Given the description of an element on the screen output the (x, y) to click on. 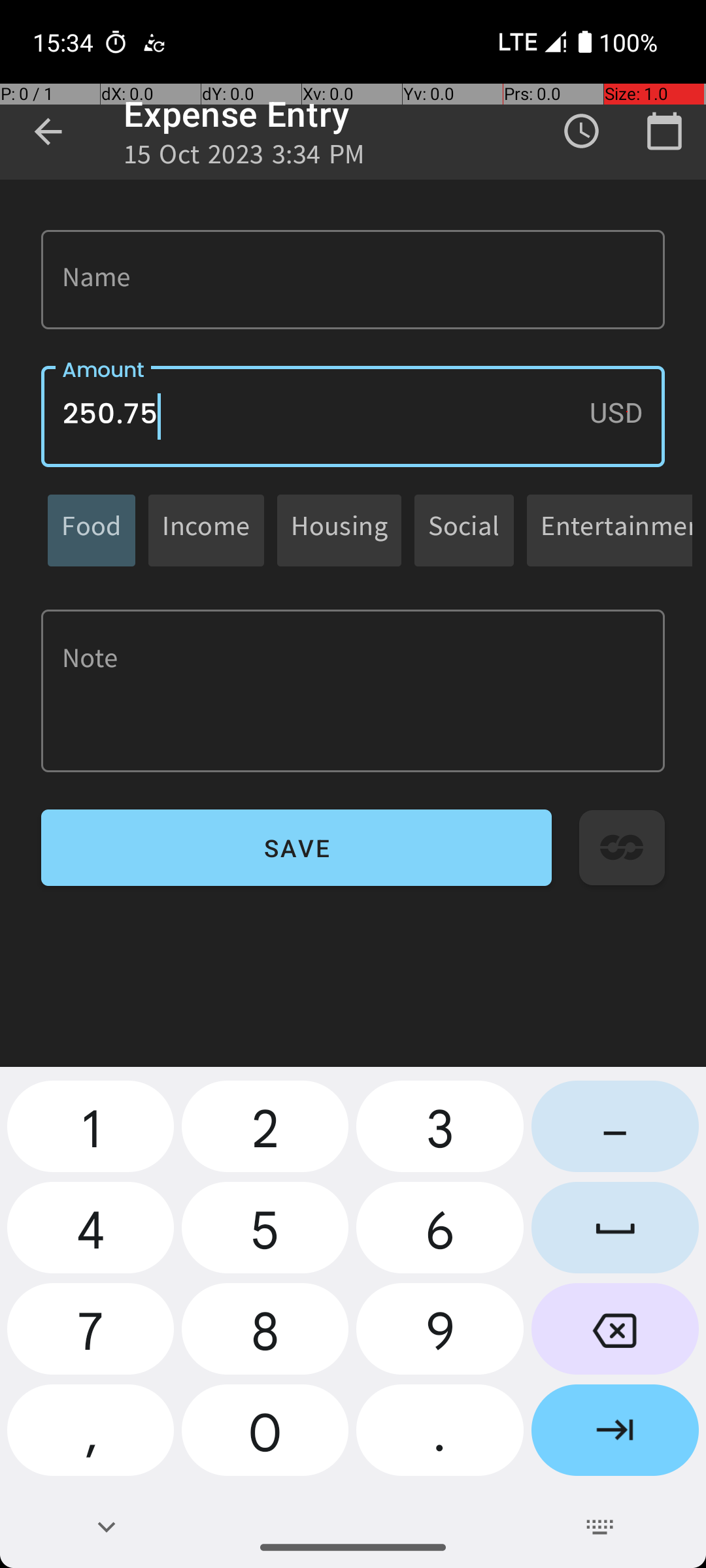
250.75 Element type: android.widget.EditText (352, 416)
